Given the description of an element on the screen output the (x, y) to click on. 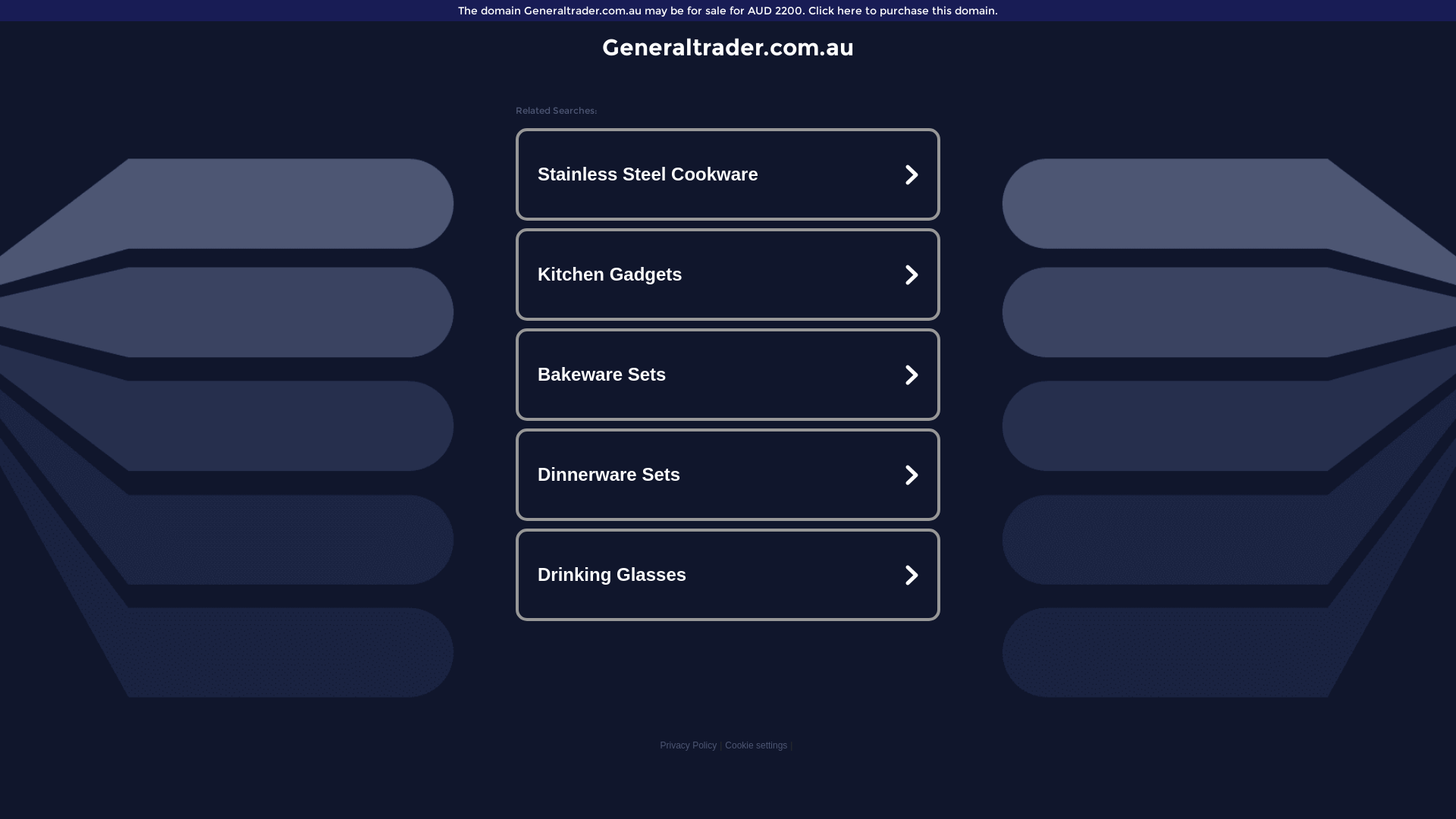
Drinking Glasses Element type: text (727, 574)
Privacy Policy Element type: text (687, 745)
Stainless Steel Cookware Element type: text (727, 174)
Dinnerware Sets Element type: text (727, 474)
Kitchen Gadgets Element type: text (727, 274)
Cookie settings Element type: text (755, 745)
Bakeware Sets Element type: text (727, 374)
Generaltrader.com.au Element type: text (727, 47)
